Given the description of an element on the screen output the (x, y) to click on. 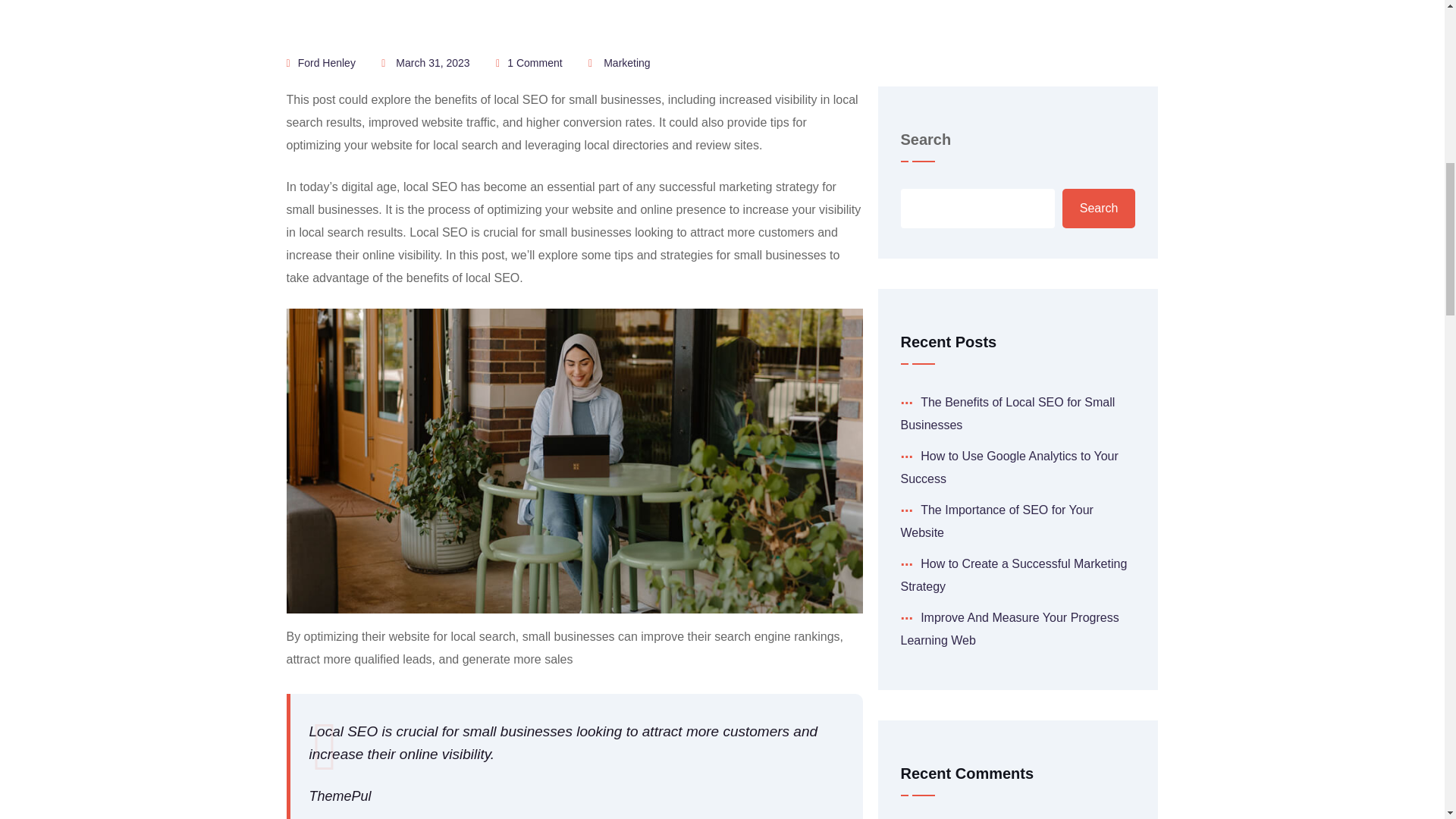
1 Comment (534, 62)
Wireless Watch (994, 344)
March 31, 2023 (432, 62)
Improve And Measure Your Progress Learning Web (1010, 140)
The Importance of SEO for Your Website (997, 32)
Ford Henley (326, 62)
How to Create a Successful Marketing Strategy (1013, 86)
Marketing (626, 63)
Adrun (917, 344)
